Given the description of an element on the screen output the (x, y) to click on. 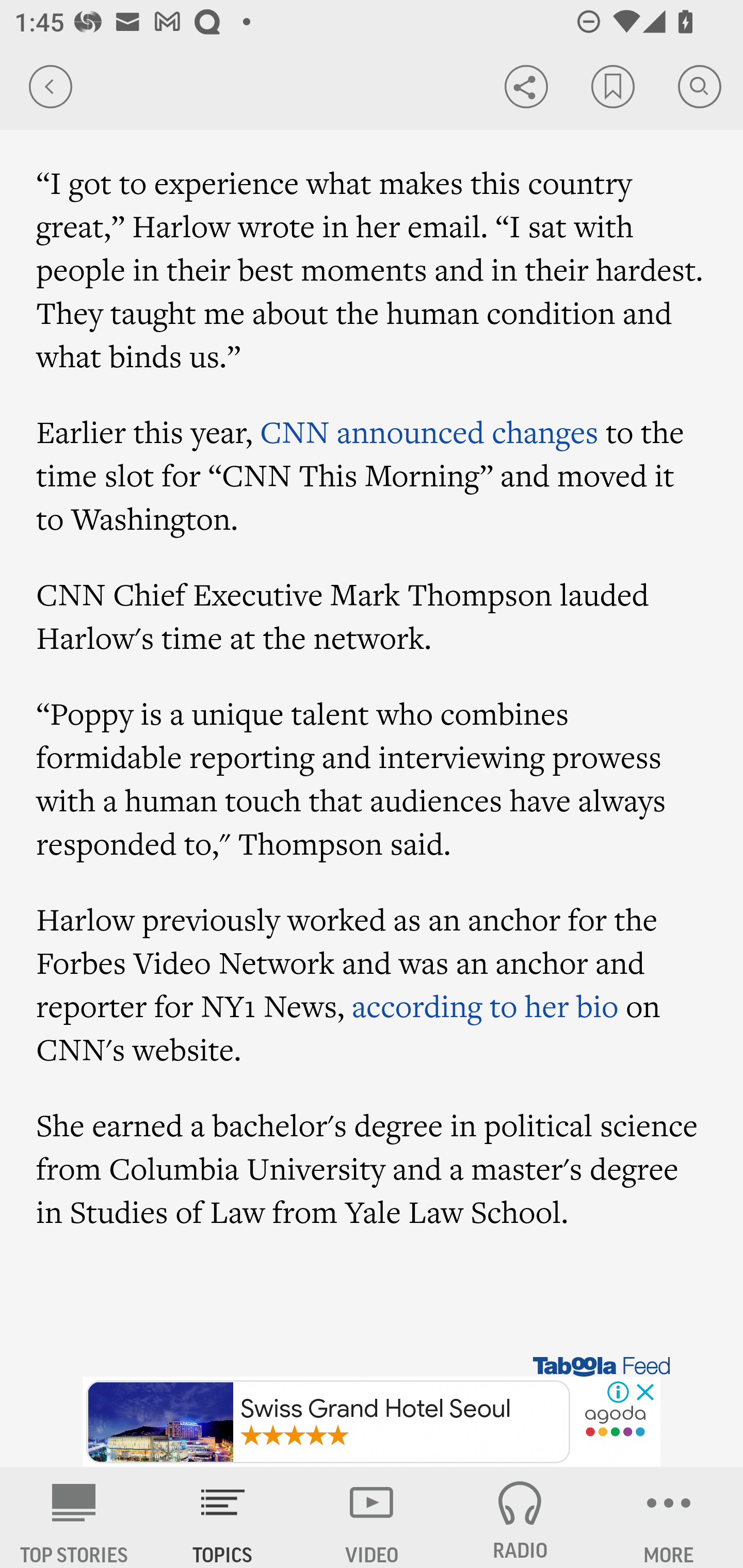
CNN announced changes (428, 430)
according to her bio (484, 1005)
Image for Taboola Advertising Unit (372, 1338)
Swiss Grand Hotel Seoul (327, 1421)
partnersearch (615, 1422)
AP News TOP STORIES (74, 1517)
TOPICS (222, 1517)
VIDEO (371, 1517)
RADIO (519, 1517)
MORE (668, 1517)
